Given the description of an element on the screen output the (x, y) to click on. 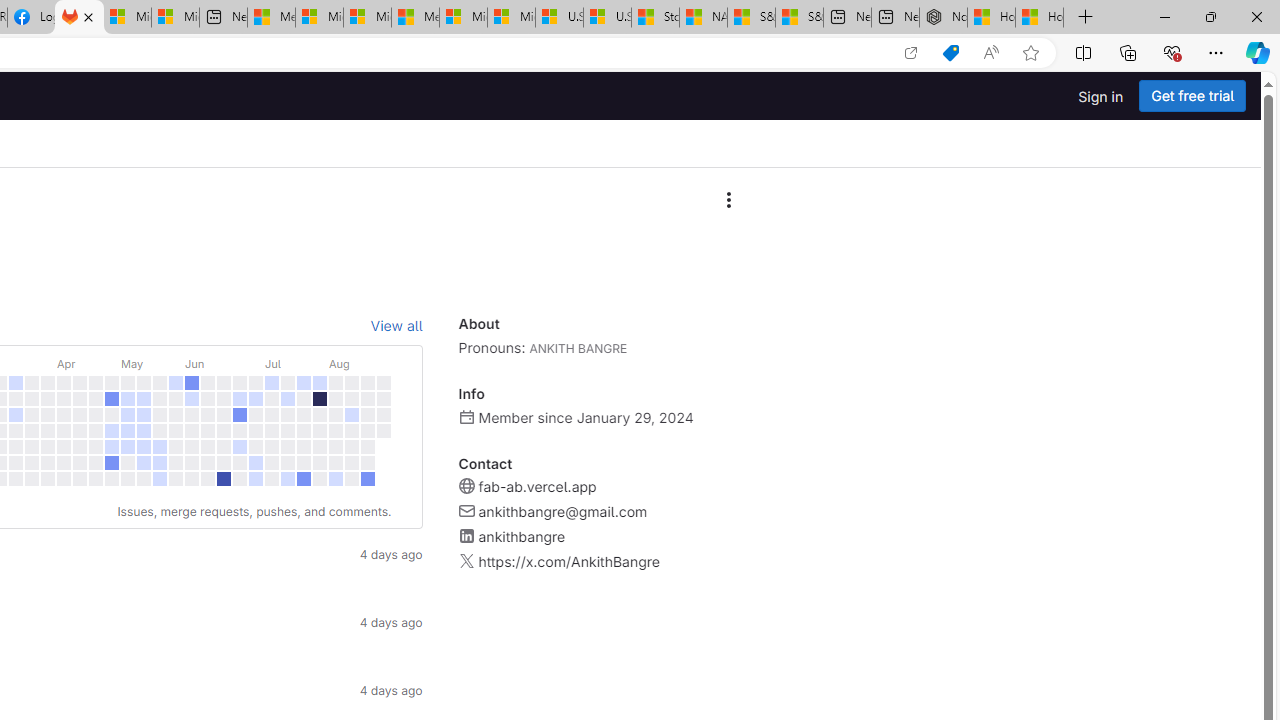
Sign in (1100, 95)
Read aloud this page (Ctrl+Shift+U) (991, 53)
Get free trial (1192, 95)
